Given the description of an element on the screen output the (x, y) to click on. 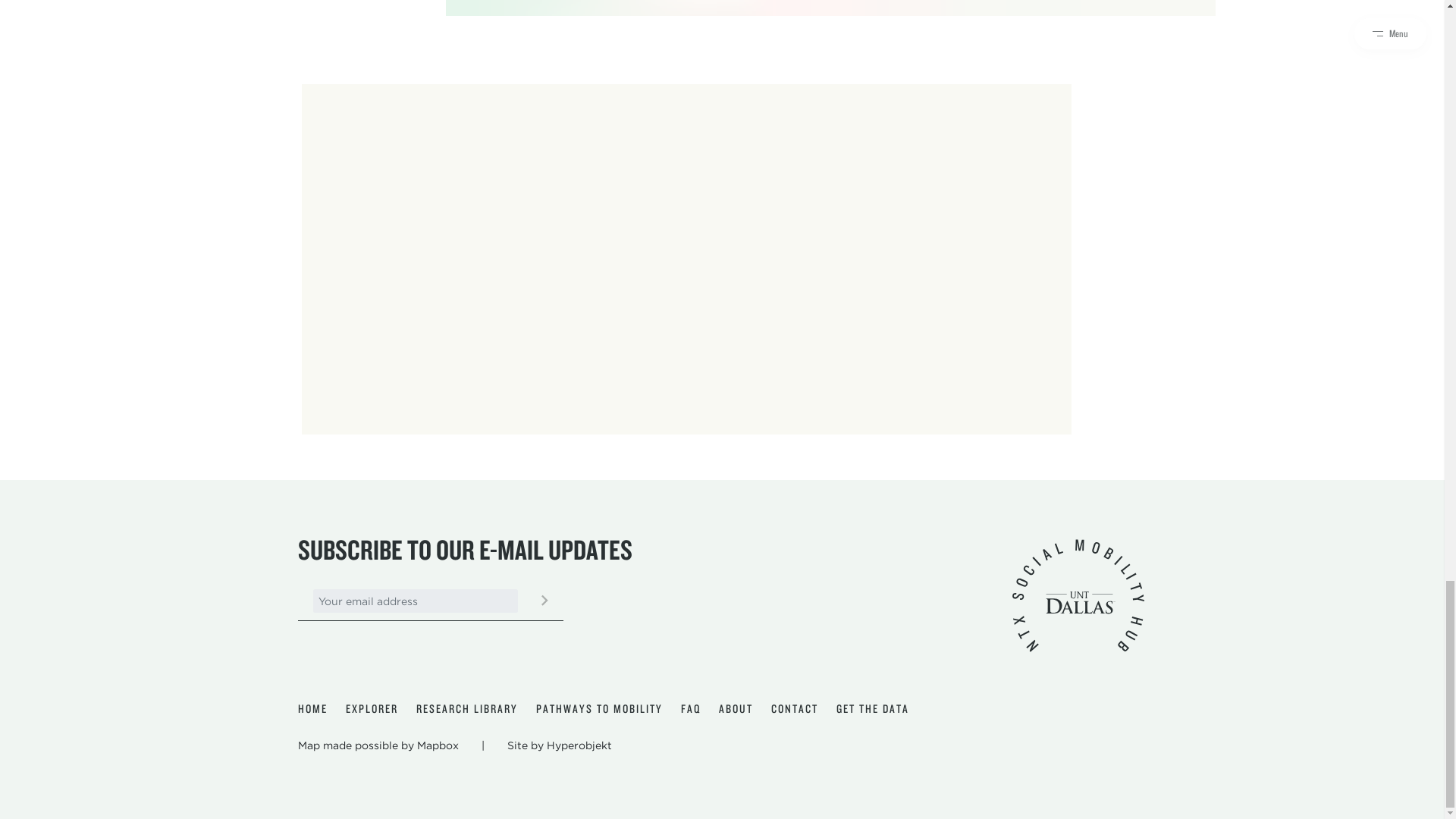
HOME (311, 709)
GET THE DATA (871, 709)
PATHWAYS TO MOBILITY (598, 709)
ABOUT (735, 709)
FAQ (690, 709)
EXPLORER (371, 709)
CONTACT (793, 709)
RESEARCH LIBRARY (465, 709)
